Given the description of an element on the screen output the (x, y) to click on. 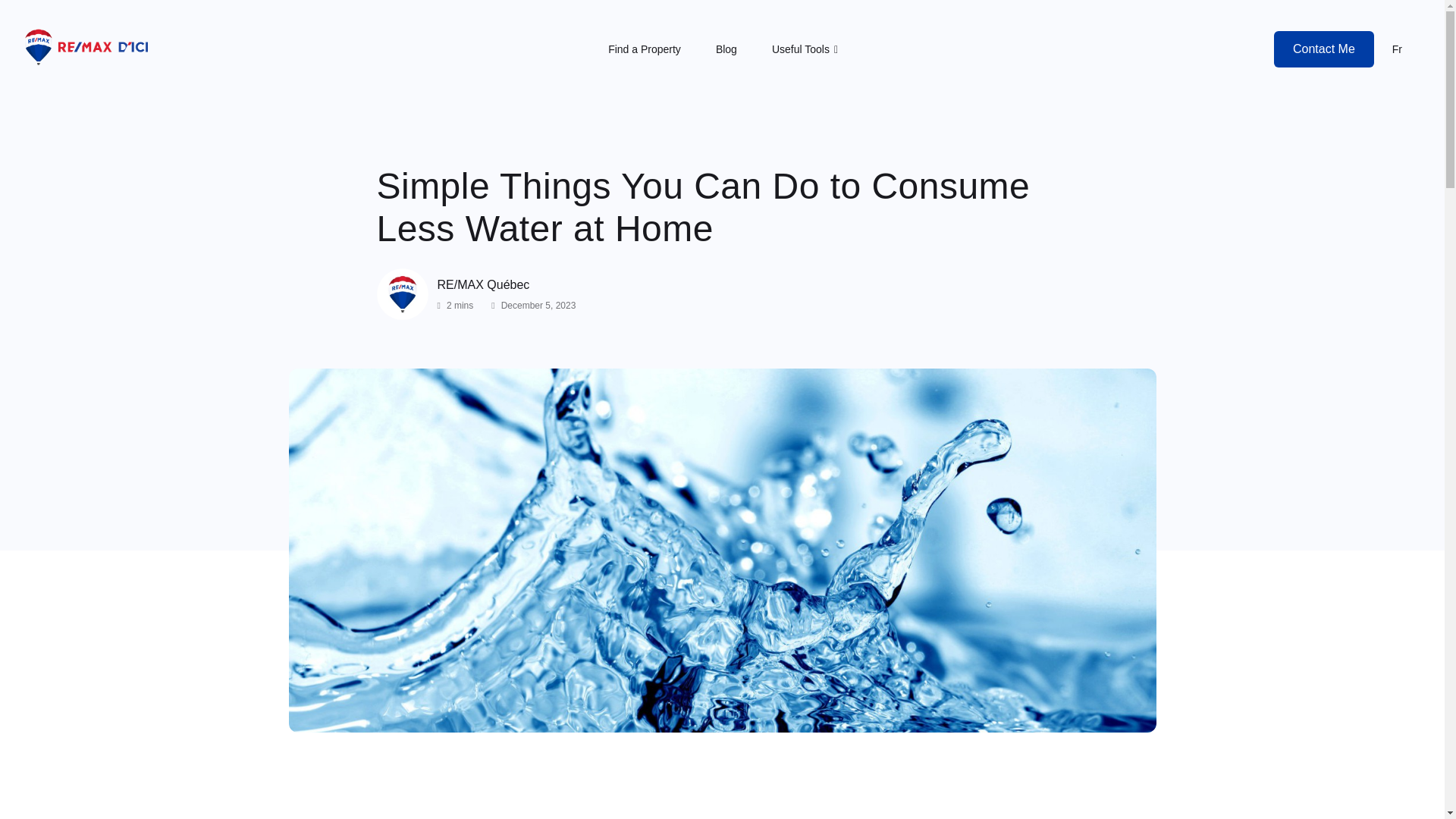
Contact Me (1324, 49)
Find a Property (644, 49)
